Given the description of an element on the screen output the (x, y) to click on. 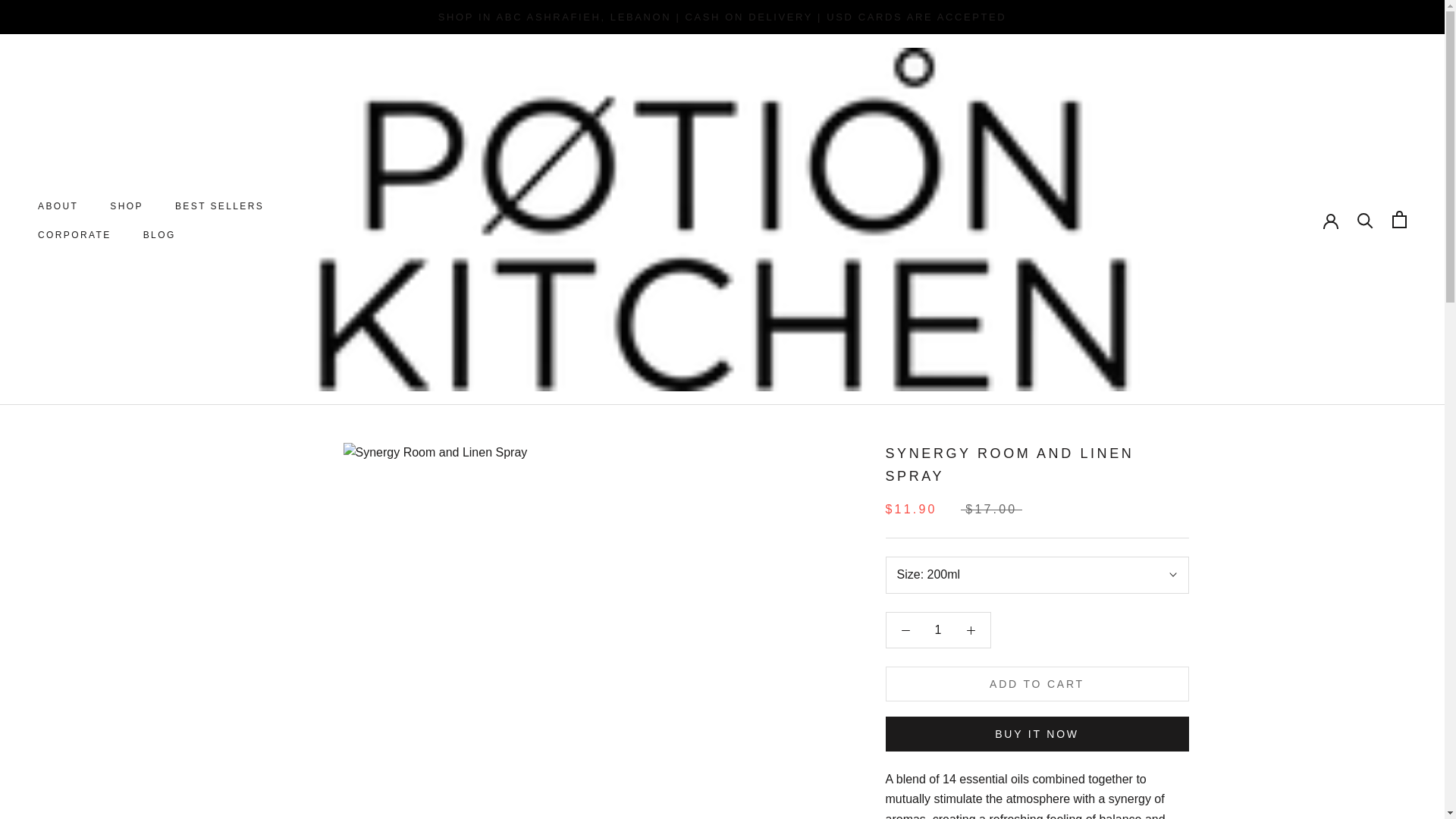
SHOP (126, 205)
1 (218, 205)
